Given the description of an element on the screen output the (x, y) to click on. 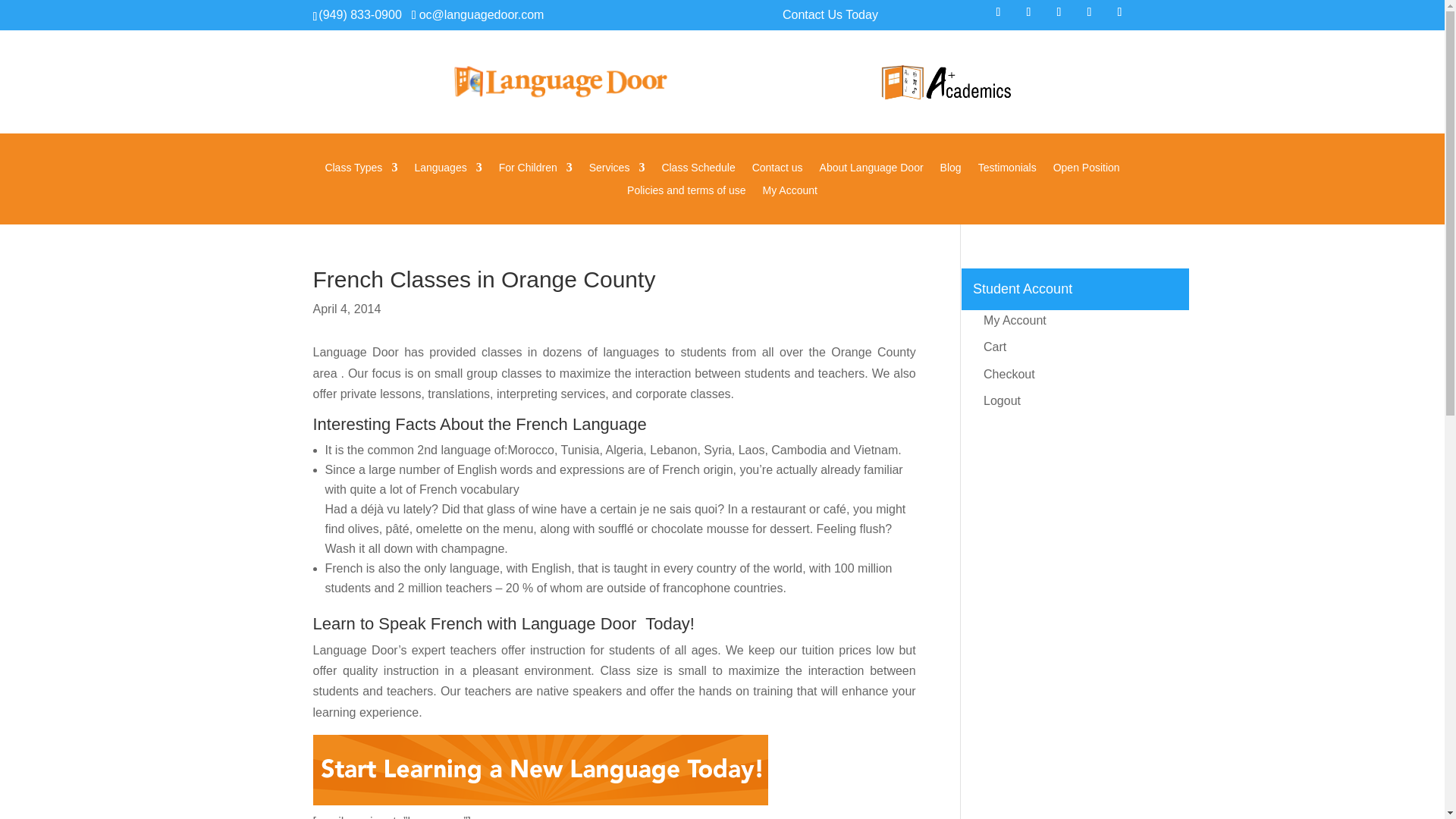
Click to open in new window (1058, 12)
Click to open in new window (1118, 12)
Click to open in new window (997, 12)
Languages (447, 170)
Class Types (360, 170)
Click to open in new window (478, 14)
Click to open in new window (1088, 12)
Click to open in new window (1028, 12)
logo (945, 85)
